Given the description of an element on the screen output the (x, y) to click on. 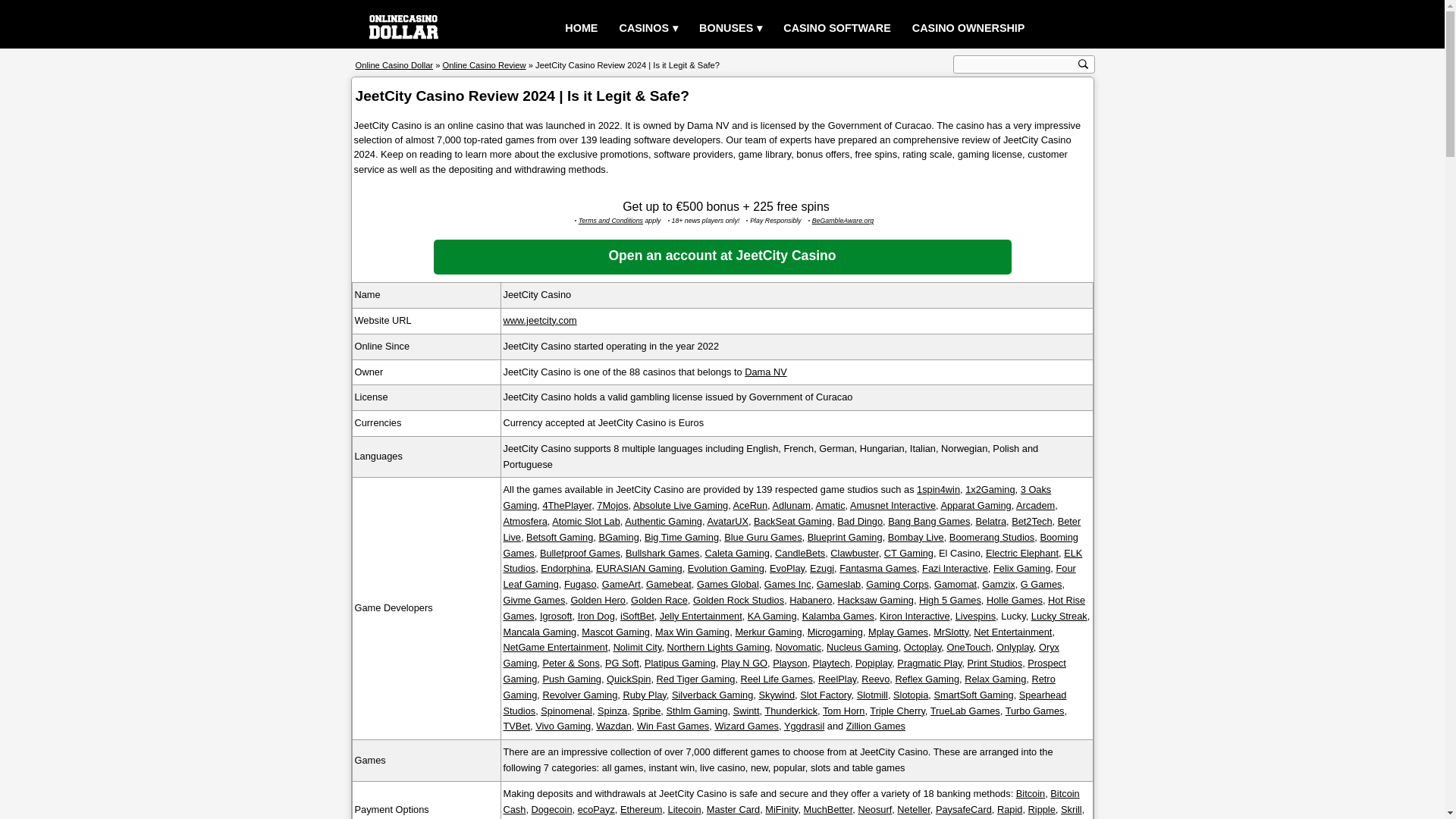
4ThePlayer (566, 505)
Bang Bang Games (928, 521)
Terms and Conditions (610, 220)
Amusnet Interactive (893, 505)
Bad Dingo (859, 521)
CASINO OWNERSHIP (968, 28)
Arcadem (1035, 505)
Dama NV (765, 370)
AvatarUX (727, 521)
Adlunam (791, 505)
